Given the description of an element on the screen output the (x, y) to click on. 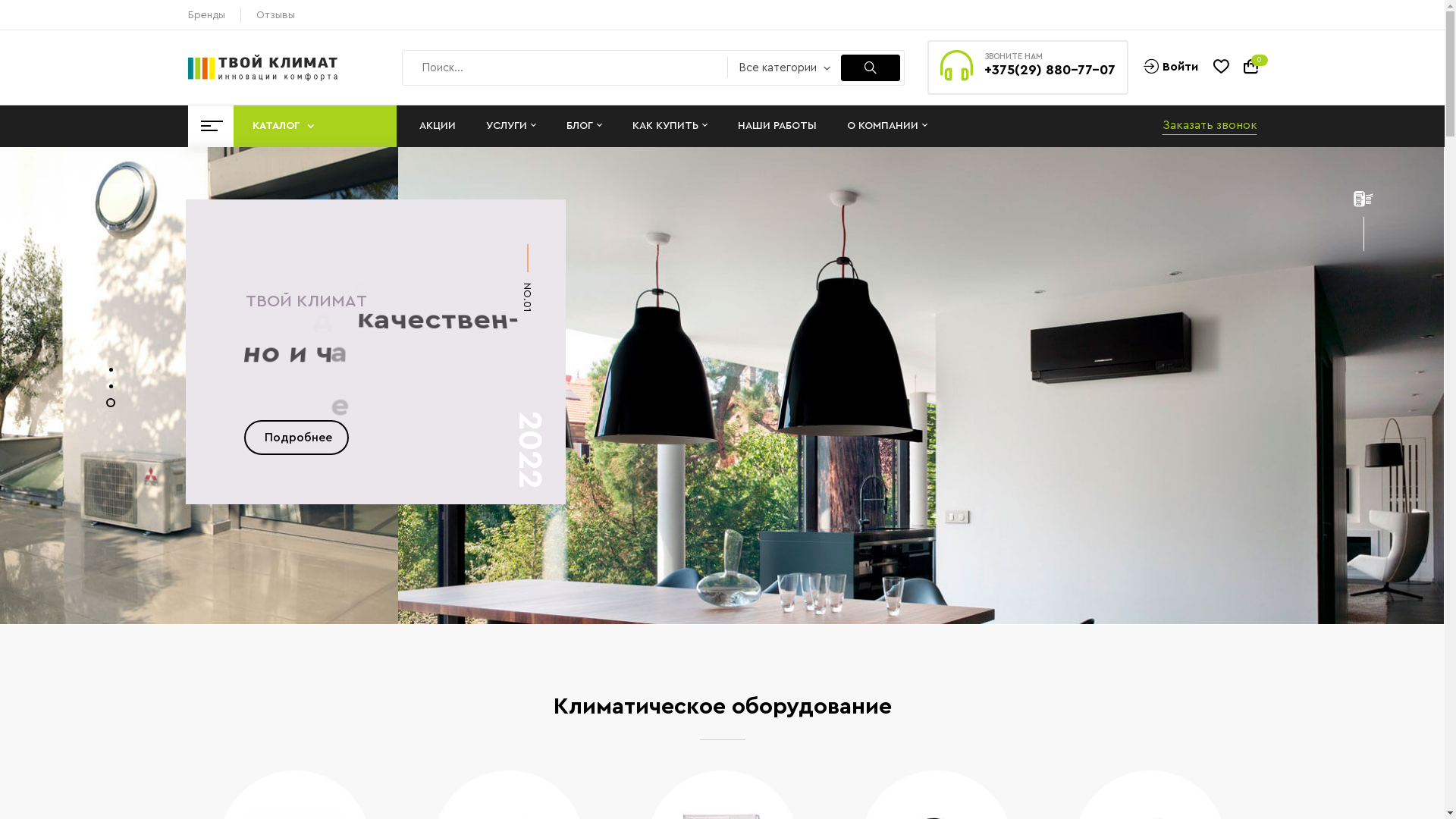
+375(29) 880-77-07 Element type: text (1049, 70)
0 Element type: text (1250, 67)
